Given the description of an element on the screen output the (x, y) to click on. 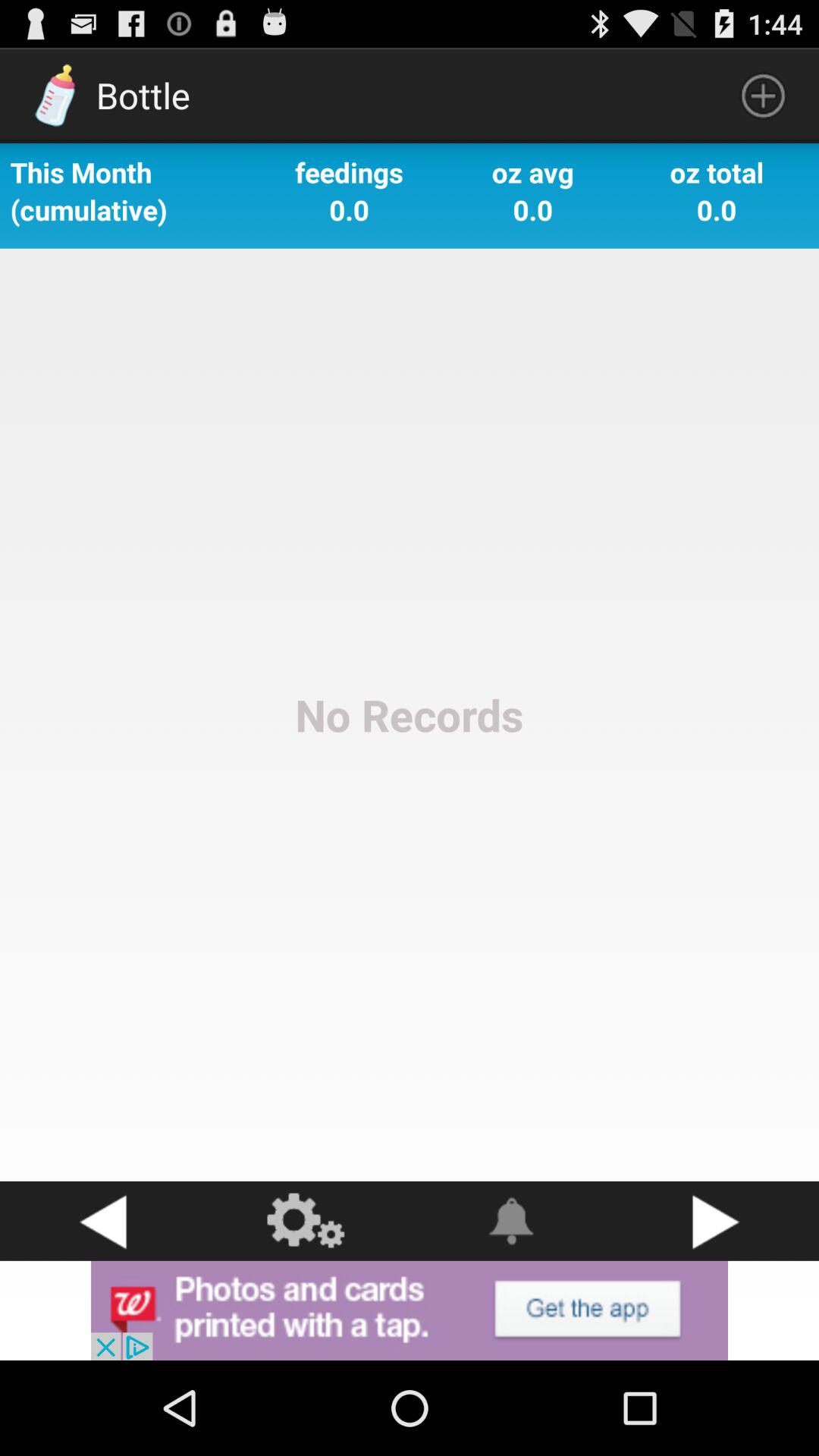
know about the advertisement (409, 1310)
